Given the description of an element on the screen output the (x, y) to click on. 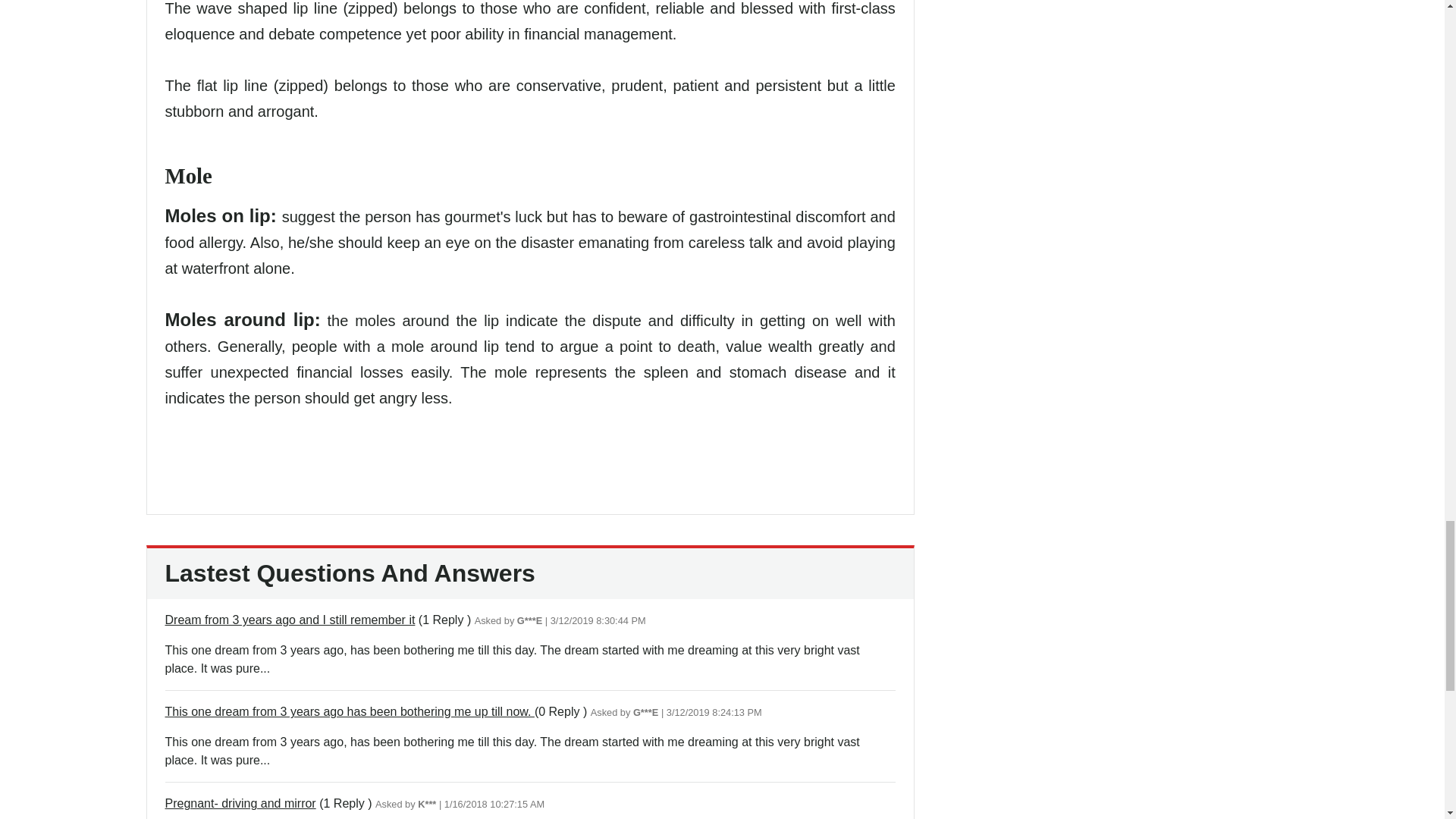
Pregnant- driving and mirror (240, 802)
Dream from 3 years ago and I still remember it (289, 619)
